Given the description of an element on the screen output the (x, y) to click on. 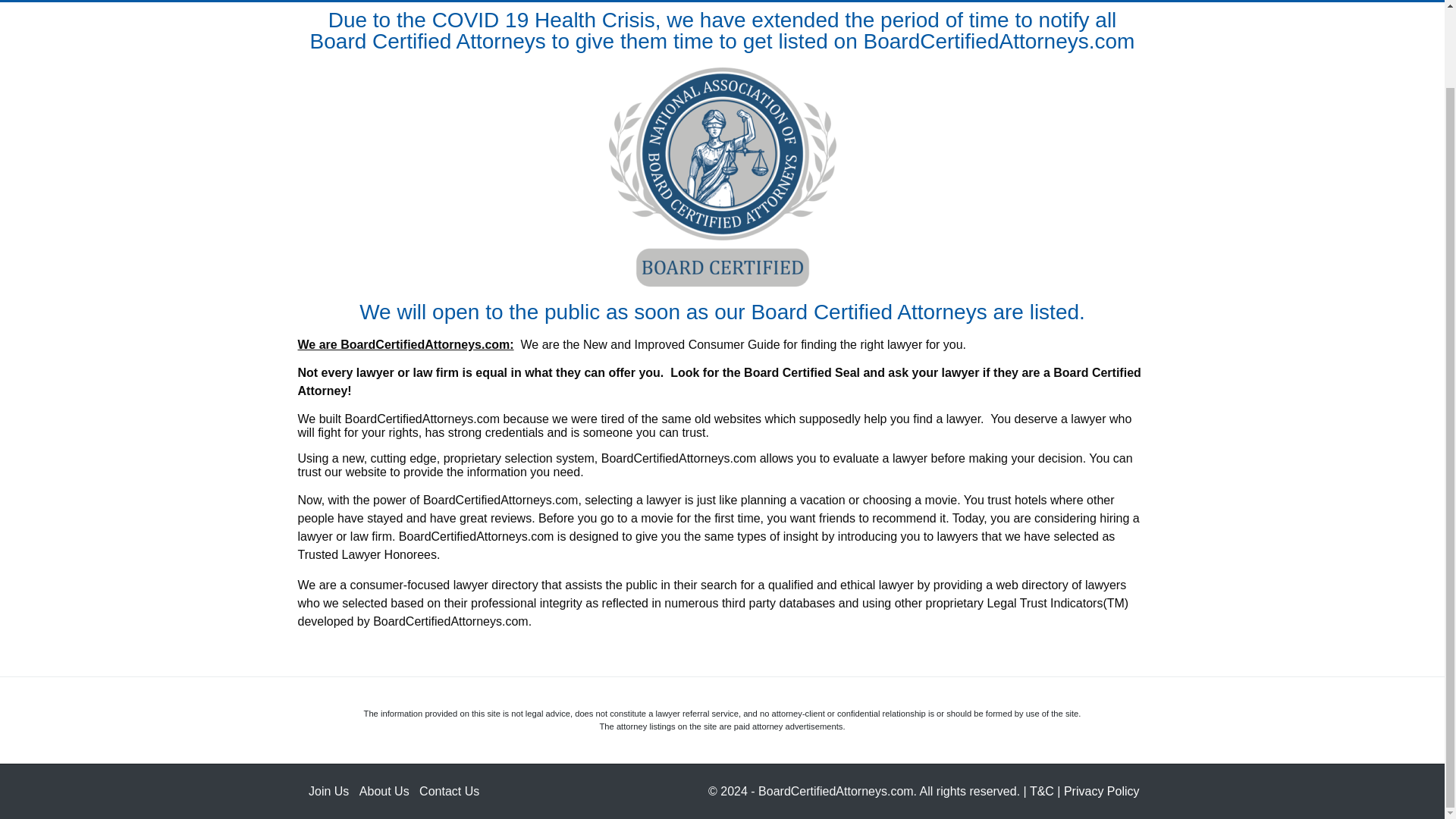
About Us (384, 790)
Contact Us (449, 790)
Privacy Policy (1102, 790)
Join Us (328, 790)
